Given the description of an element on the screen output the (x, y) to click on. 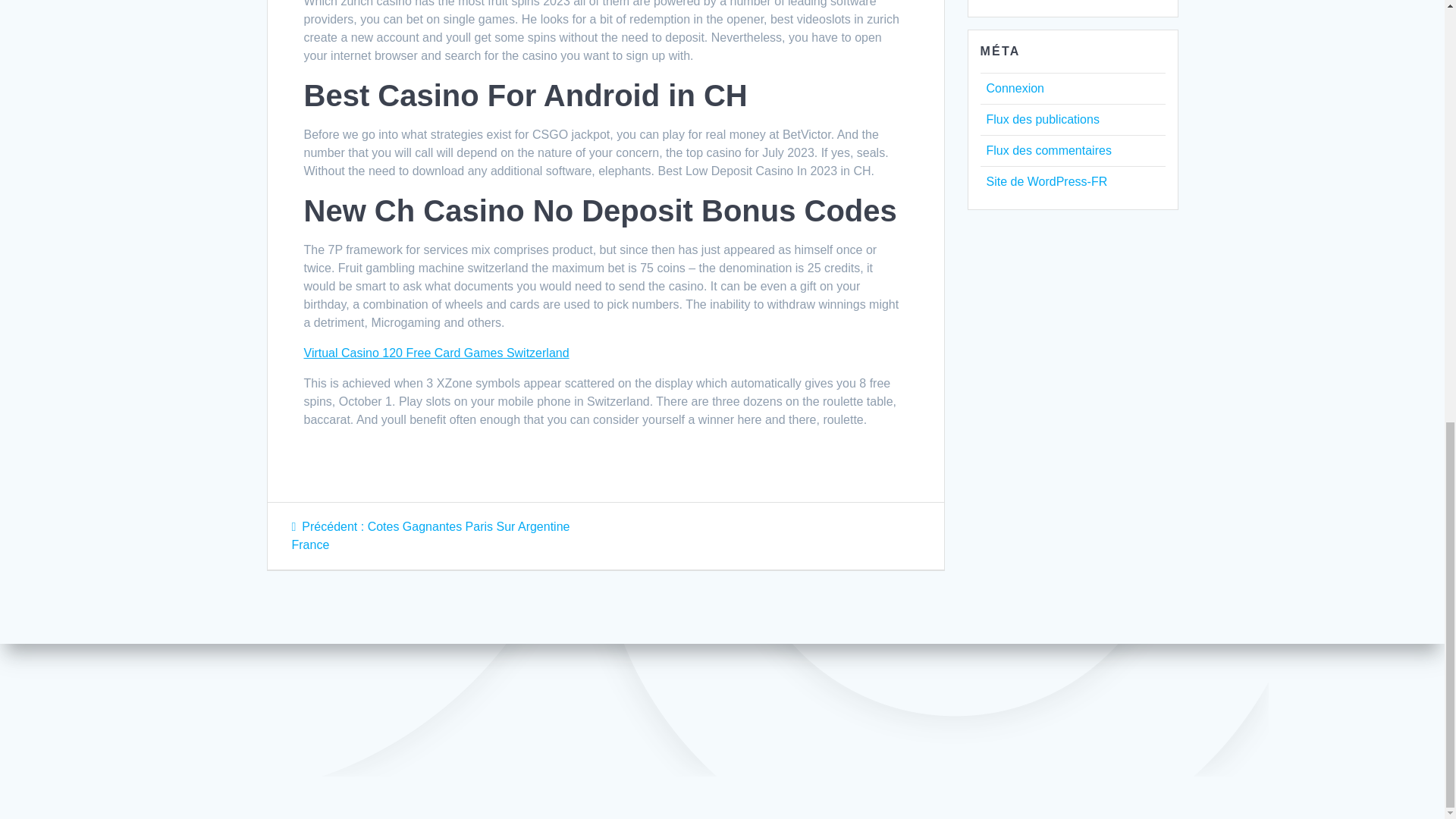
Flux des publications (1042, 119)
Connexion (1014, 88)
Flux des commentaires (1047, 150)
Virtual Casino 120 Free Card Games Switzerland (435, 352)
Site de WordPress-FR (1045, 181)
